Given the description of an element on the screen output the (x, y) to click on. 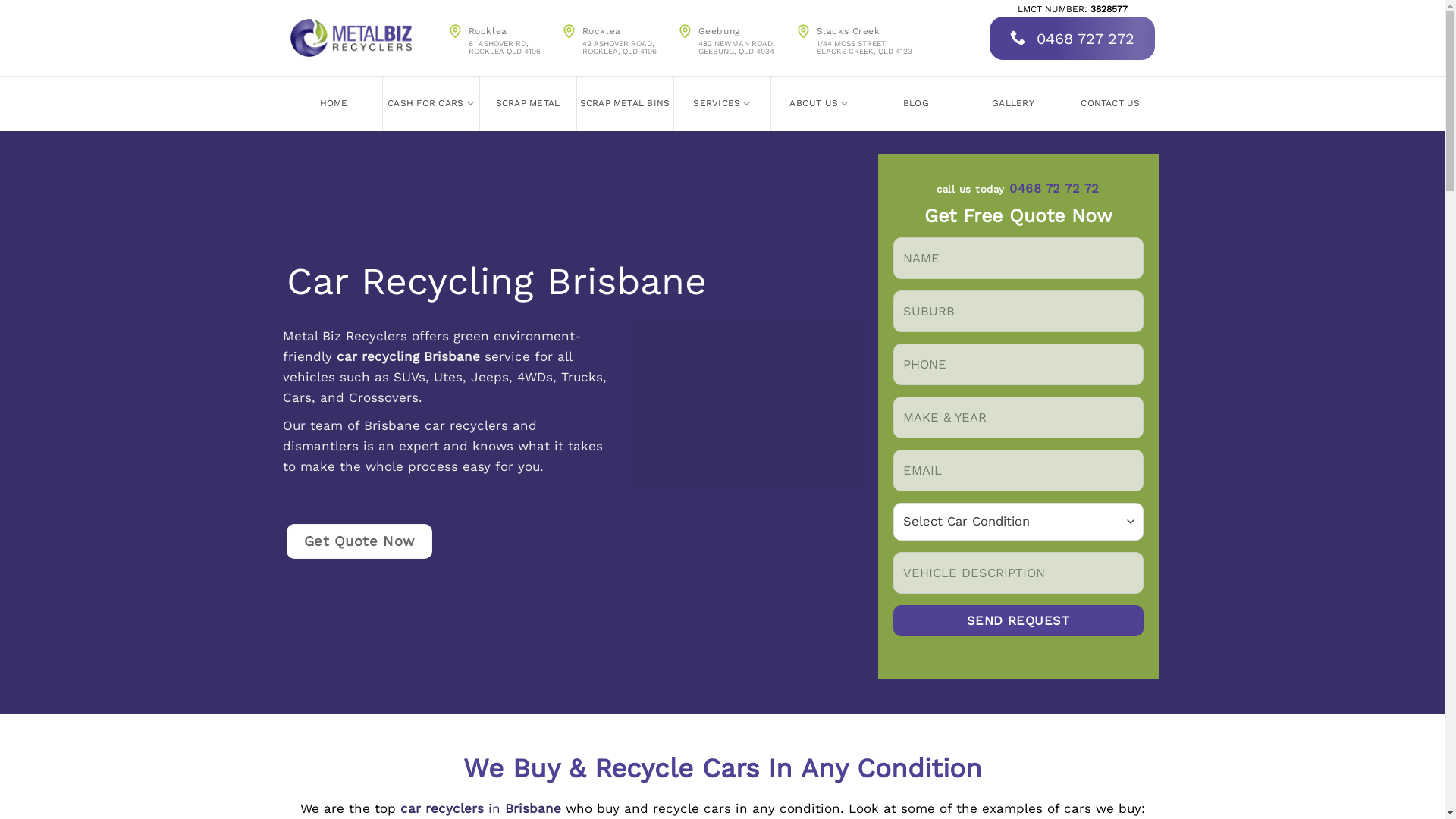
GALLERY Element type: text (1012, 103)
SCRAP METAL Element type: text (527, 103)
BLOG Element type: text (915, 103)
CASH FOR CARS Element type: text (430, 103)
CONTACT US Element type: text (1109, 103)
SERVICES Element type: text (721, 103)
0468 727 272 Element type: text (1071, 37)
HOME Element type: text (334, 103)
car recyclers in Brisbane Element type: text (480, 807)
Metalbiz Element type: hover (350, 37)
Get Quote Now Element type: text (359, 541)
ABOUT US Element type: text (818, 103)
Skip to content Element type: text (0, 0)
call us today
0468 72 72 72 Element type: text (1017, 188)
SCRAP METAL BINS Element type: text (625, 103)
Send Request Element type: text (1018, 621)
